Given the description of an element on the screen output the (x, y) to click on. 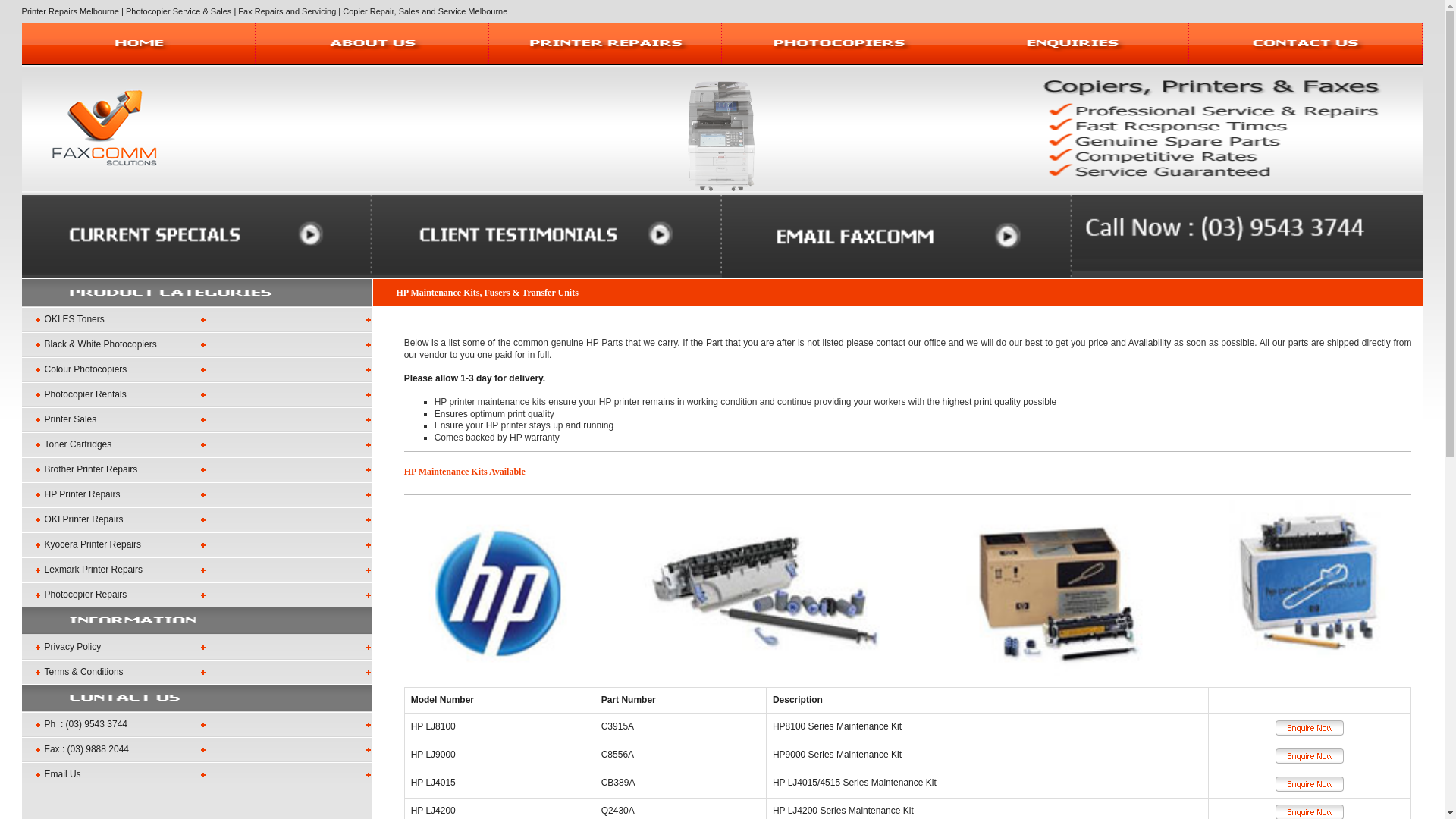
HP Printer Repairs Element type: text (196, 493)
Photocopier Repairs Element type: text (196, 593)
Kyocera Printer Repairs Element type: text (196, 543)
HP Maintenance Kit enquiry Element type: hover (1309, 783)
HP Maintenance Kits Element type: hover (908, 593)
HP Maintenance Kit enquiry Element type: hover (1309, 755)
Fax : (03) 9888 2044 Element type: text (196, 748)
Ph  : (03) 9543 3744 Element type: text (196, 723)
Brother Printer Repairs Element type: text (196, 468)
Toner Cartridges Element type: text (196, 443)
Email Us Element type: text (196, 773)
Photocopier Rentals Element type: text (196, 393)
Printer Sales Element type: text (196, 418)
Email Faxcomm Solutions Element type: hover (896, 235)
HP Maintenance Kit enquiry Element type: hover (1309, 727)
printer repairs, photocopier sales & service Melbourne Element type: hover (104, 128)
Privacy Policy Element type: text (196, 645)
Terms & Conditions Element type: text (196, 671)
Black & White Photocopiers Element type: text (196, 343)
OKI ES Toners Element type: text (196, 318)
OKI Printer Repairs Element type: text (196, 518)
Lexmark Printer Repairs Element type: text (196, 568)
Colour Photocopiers Element type: text (196, 368)
